Given the description of an element on the screen output the (x, y) to click on. 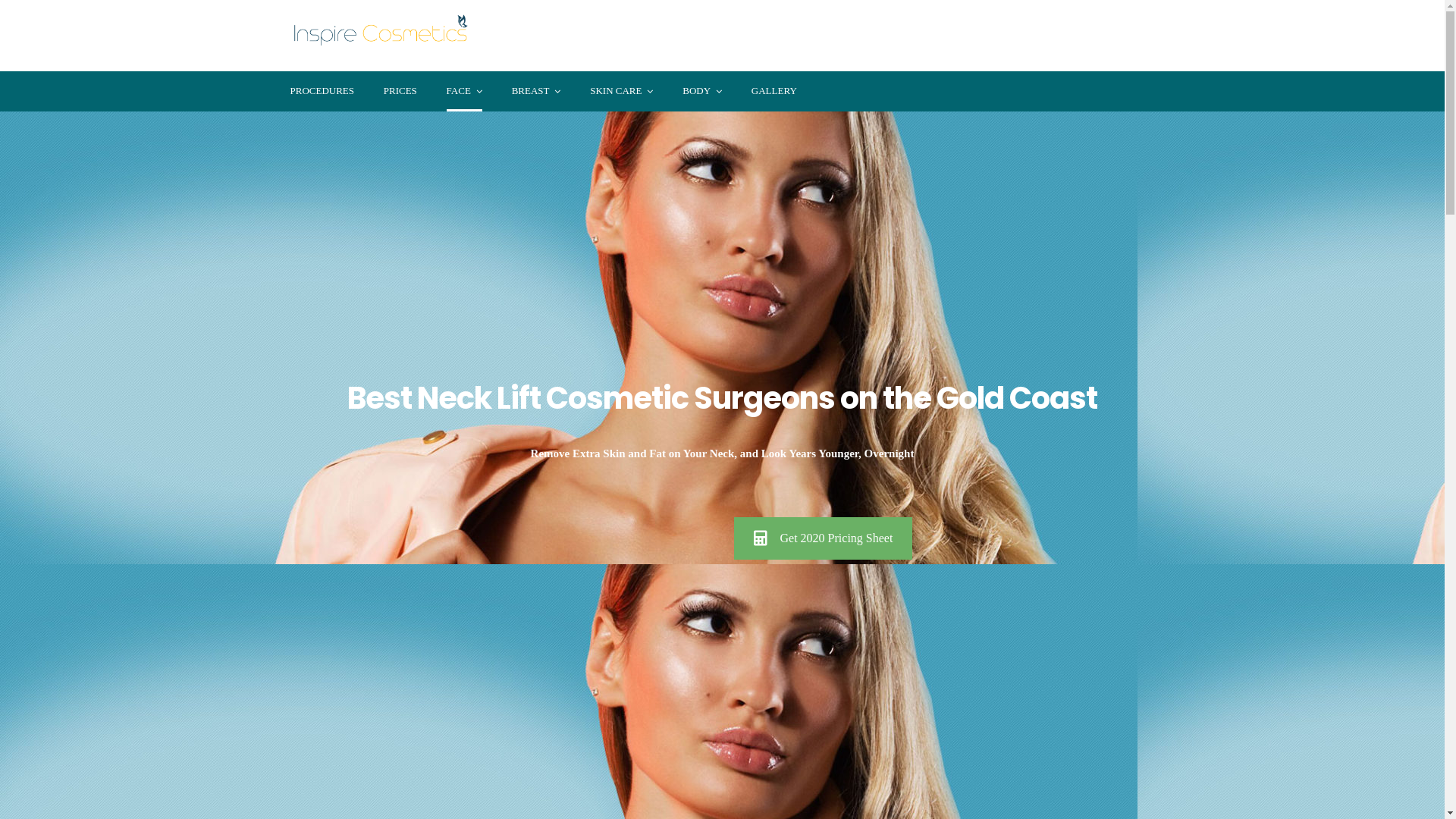
FACE Element type: text (464, 91)
PRICES Element type: text (400, 91)
BODY Element type: text (701, 91)
SKIN CARE Element type: text (620, 91)
Get 2020 Pricing Sheet Element type: text (823, 538)
PROCEDURES Element type: text (321, 91)
BREAST Element type: text (536, 91)
GALLERY Element type: text (774, 91)
